Given the description of an element on the screen output the (x, y) to click on. 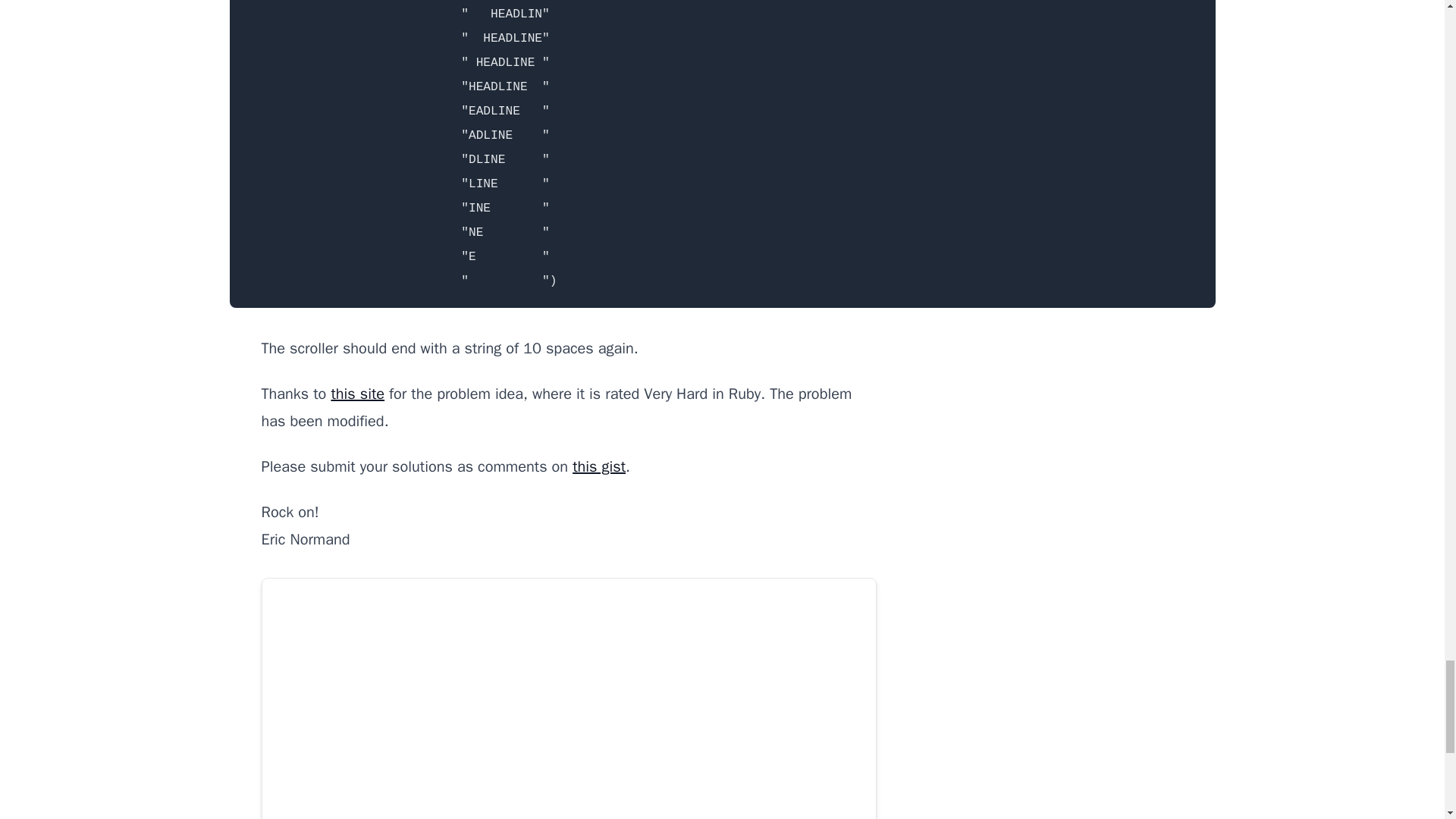
this site (357, 393)
this gist (599, 466)
